Given the description of an element on the screen output the (x, y) to click on. 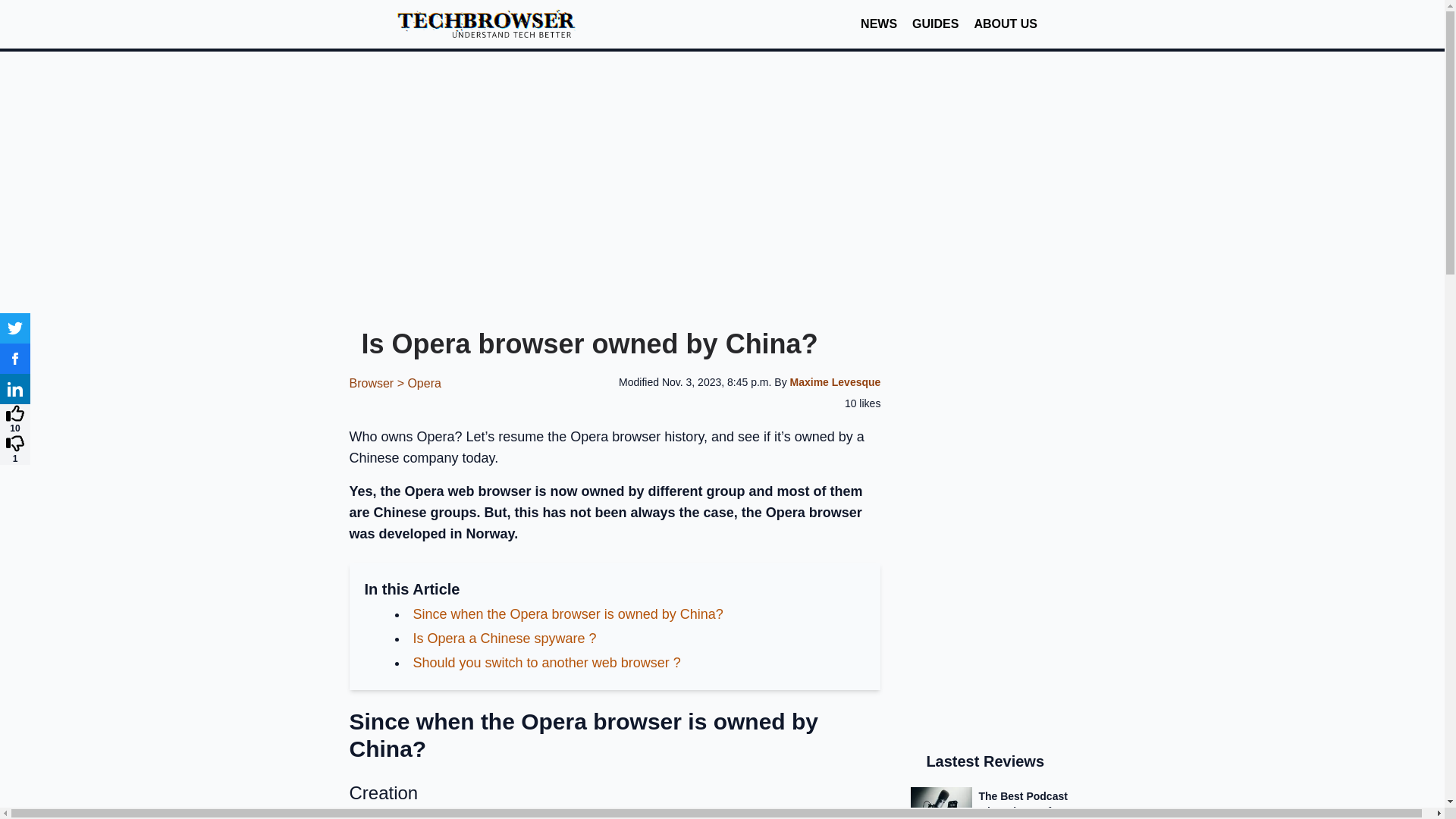
The Best Podcast Microphones for iPhone (1002, 803)
By Maxime Levesque (827, 381)
Opera (424, 382)
TechBrowser (491, 24)
Should you switch to another web browser ? (545, 662)
Blogposts in Opera (424, 382)
GUIDES (935, 24)
Is Opera a Chinese spyware ? (503, 638)
1 (15, 449)
Blogposts in Browser (378, 382)
10 (15, 418)
ABOUT US (1005, 24)
The Best Podcast Microphones for iPhone (1002, 803)
Since when the Opera browser is owned by China? (567, 613)
About TechBrowser (1005, 24)
